Given the description of an element on the screen output the (x, y) to click on. 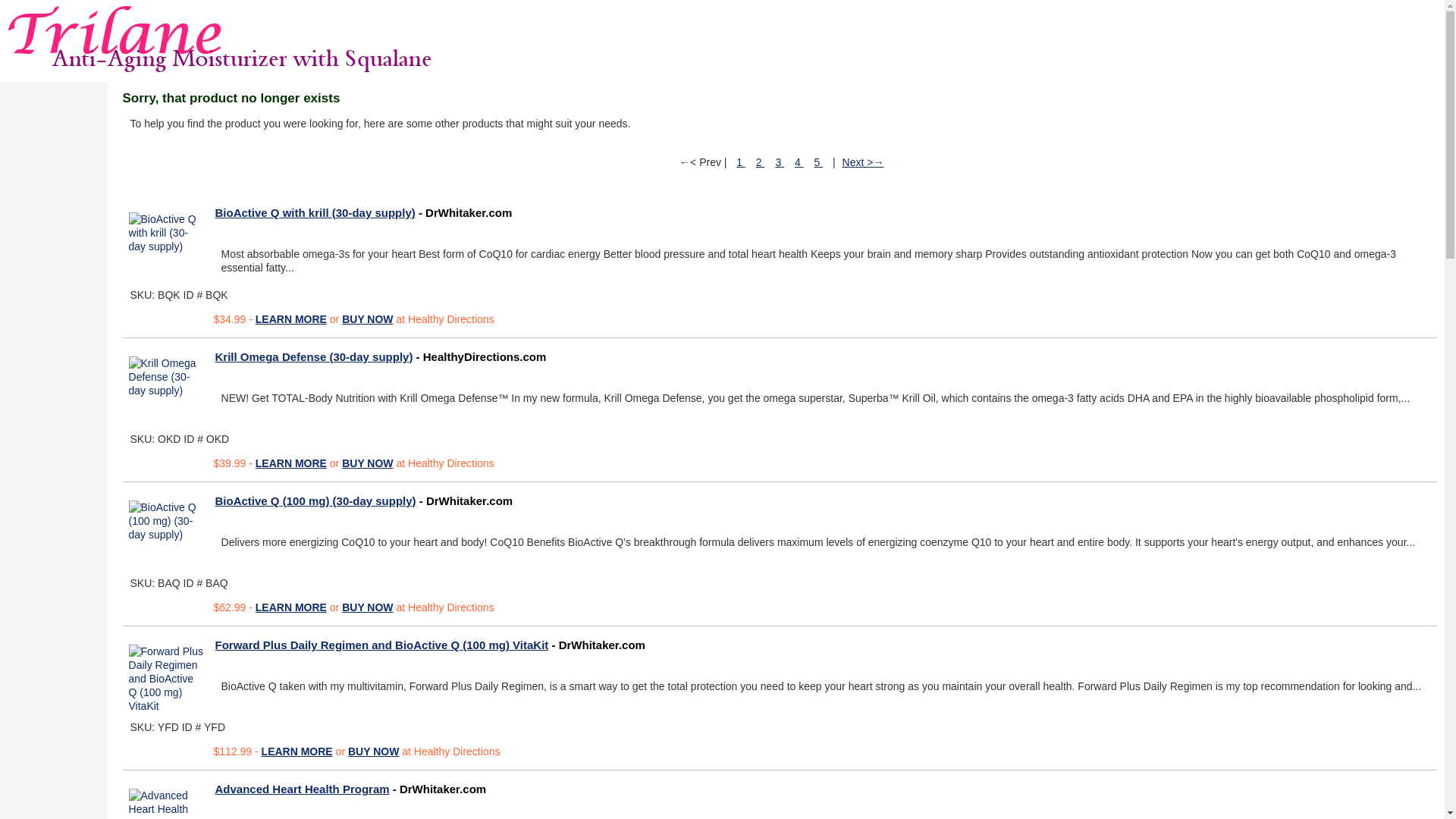
Advanced Heart Health Program (302, 788)
BUY NOW (367, 607)
LEARN MORE (291, 607)
LEARN MORE (291, 463)
BUY NOW (367, 318)
LEARN MORE (291, 318)
LEARN MORE (297, 751)
BUY NOW (367, 463)
BUY NOW (372, 751)
Doctor Formulated Supplements (217, 38)
